Given the description of an element on the screen output the (x, y) to click on. 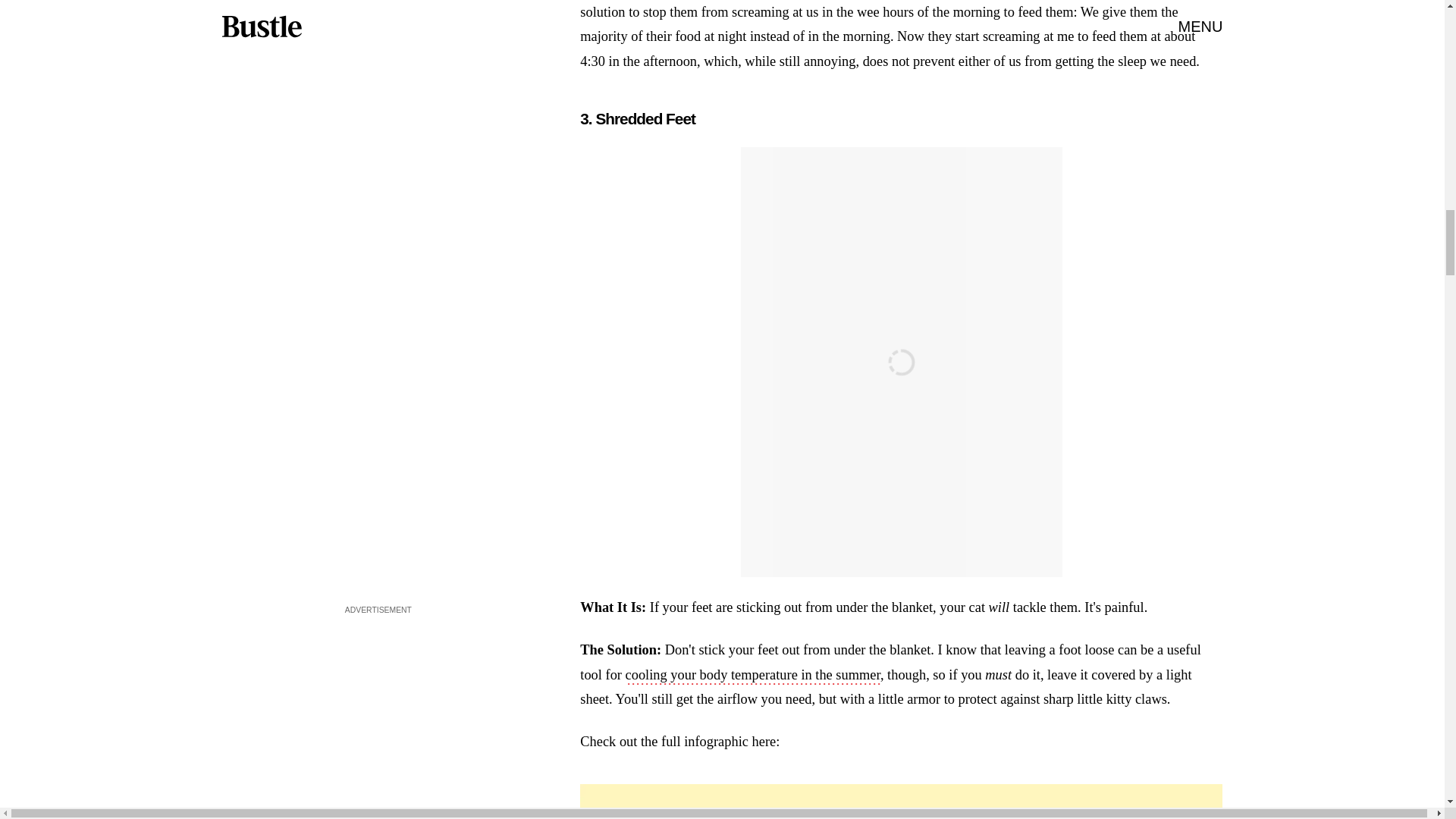
cooling your body temperature in the summer (753, 676)
